Given the description of an element on the screen output the (x, y) to click on. 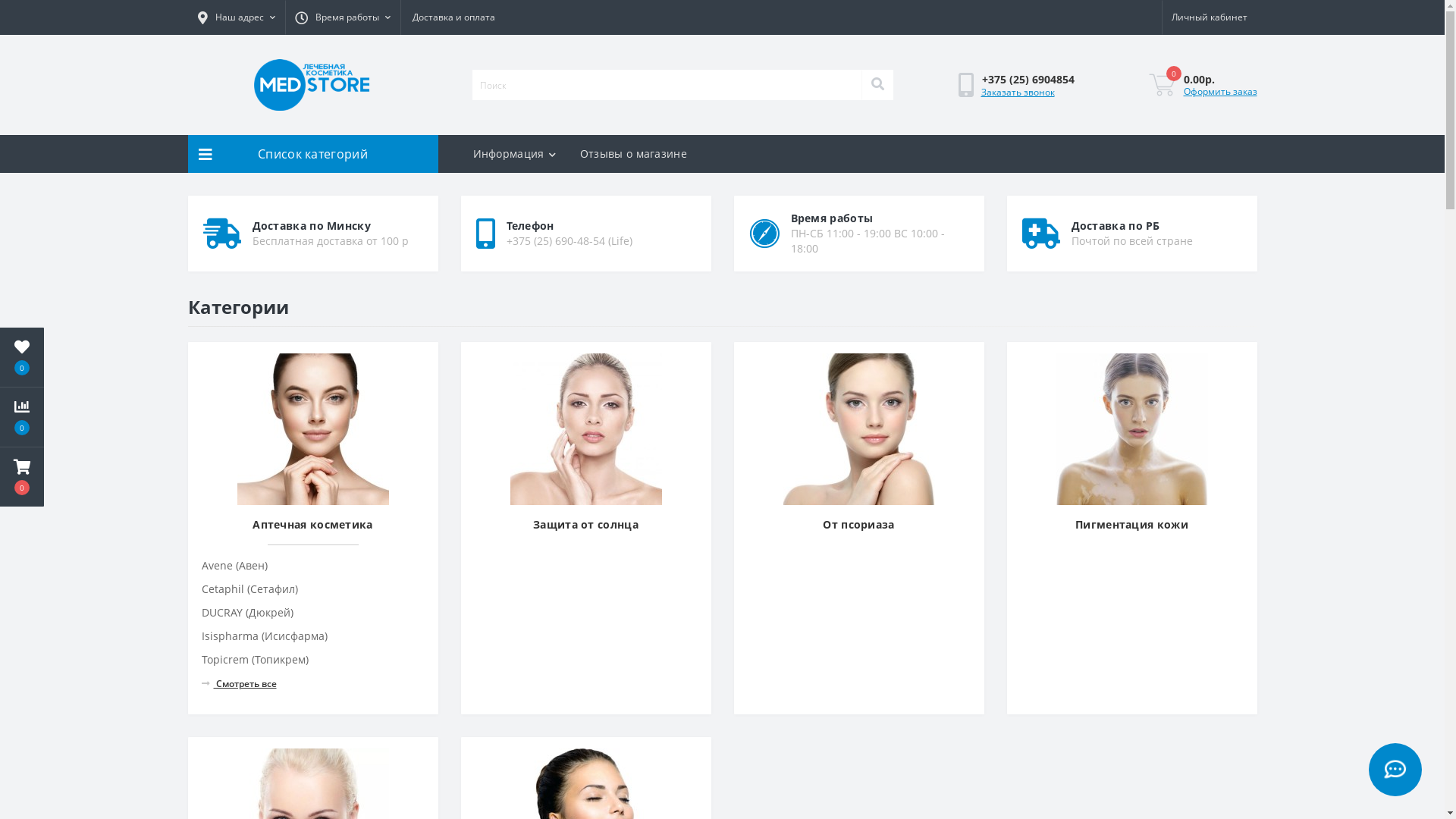
0 Element type: text (21, 416)
med-store.by Element type: hover (312, 84)
0 Element type: text (21, 356)
+375 (25) 6904854 Element type: text (1028, 78)
0 Element type: text (21, 476)
0 Element type: text (1161, 84)
